Given the description of an element on the screen output the (x, y) to click on. 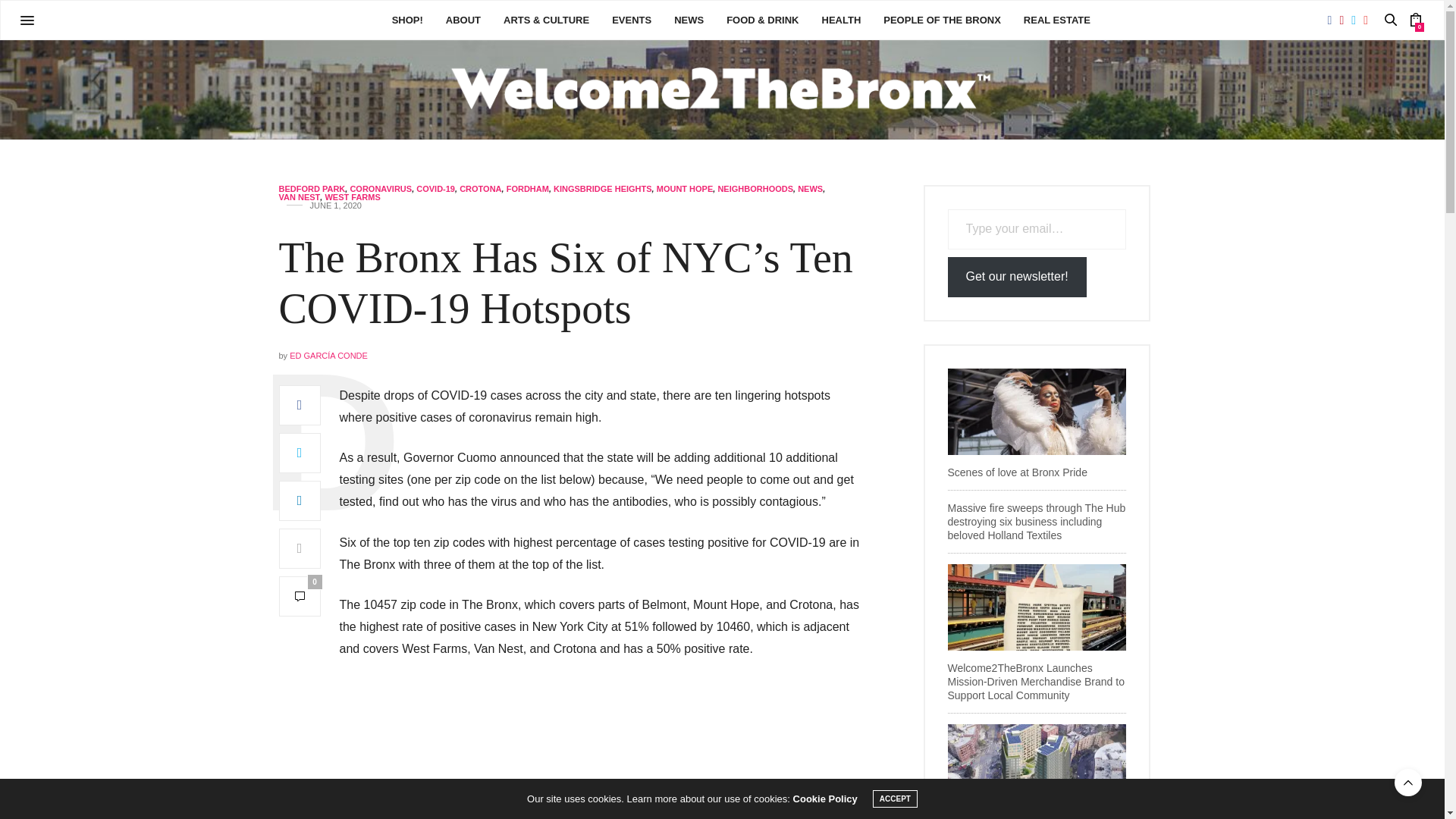
CROTONA (480, 189)
Welcome2TheBronx (721, 89)
REAL ESTATE (1056, 19)
ABOUT (462, 19)
PEOPLE OF THE BRONX (942, 19)
KINGSBRIDGE HEIGHTS (602, 189)
NEWS (809, 189)
CORONAVIRUS (380, 189)
COVID-19 (435, 189)
EVENTS (630, 19)
FORDHAM (527, 189)
BEDFORD PARK (312, 189)
Advertisement (601, 749)
NEIGHBORHOODS (755, 189)
MOUNT HOPE (684, 189)
